Given the description of an element on the screen output the (x, y) to click on. 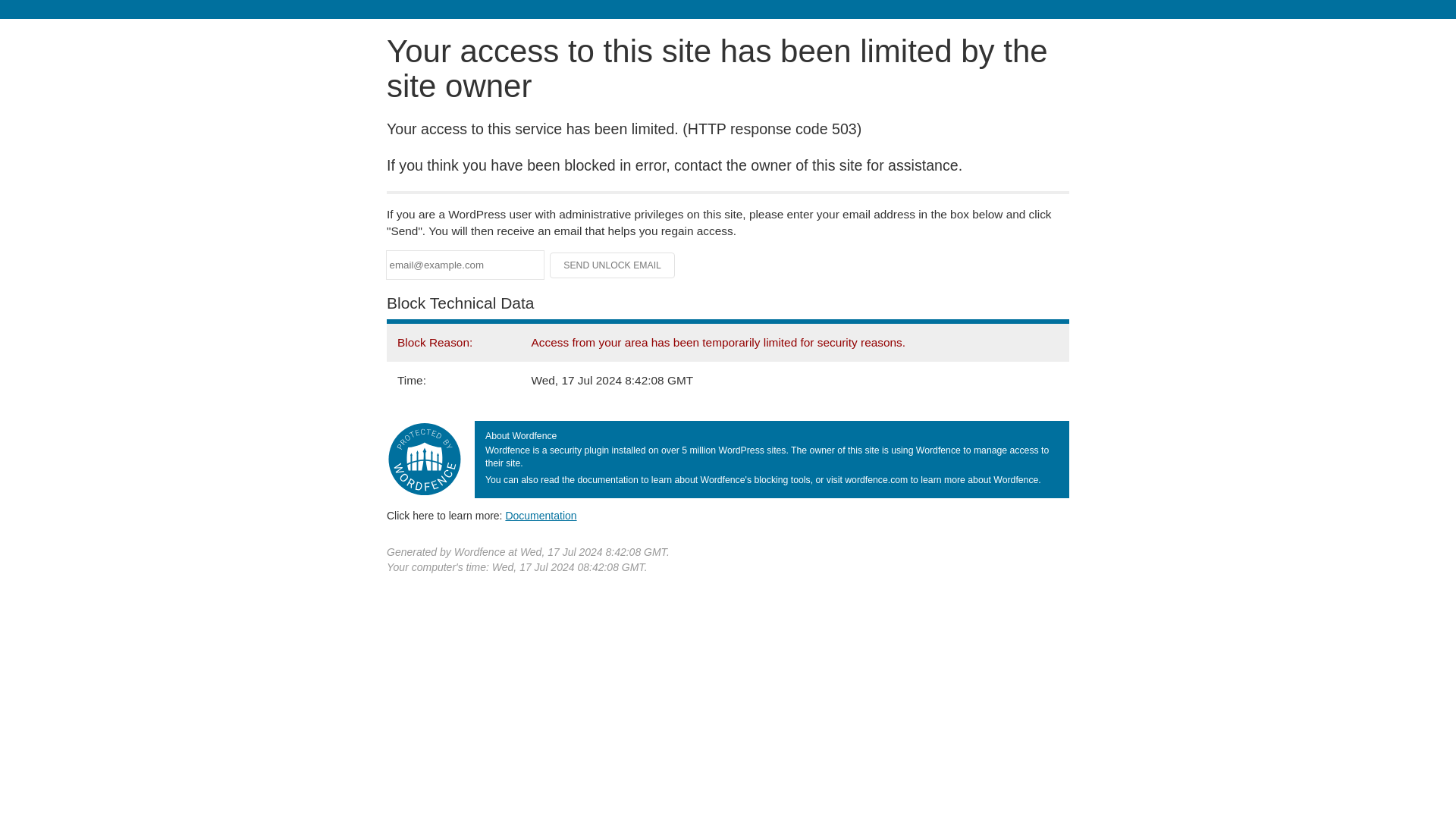
Send Unlock Email (612, 265)
Send Unlock Email (612, 265)
Documentation (540, 515)
